Given the description of an element on the screen output the (x, y) to click on. 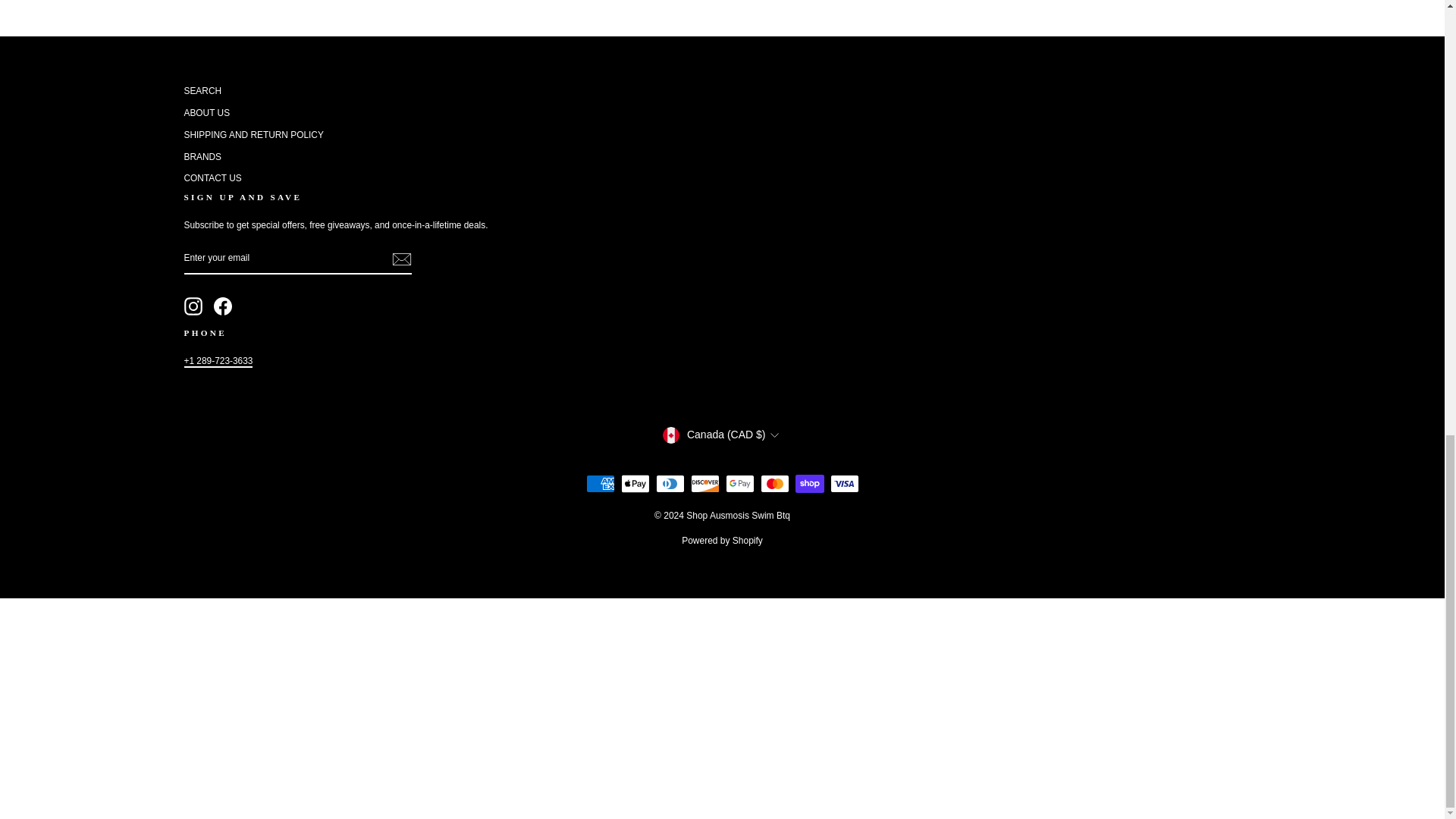
Shop Ausmosis Swim Btq on Instagram (192, 306)
Shop Ausmosis Swim Btq on Facebook (222, 306)
icon-email (400, 259)
Diners Club (669, 484)
Discover (704, 484)
instagram (192, 306)
Apple Pay (634, 484)
American Express (599, 484)
